Given the description of an element on the screen output the (x, y) to click on. 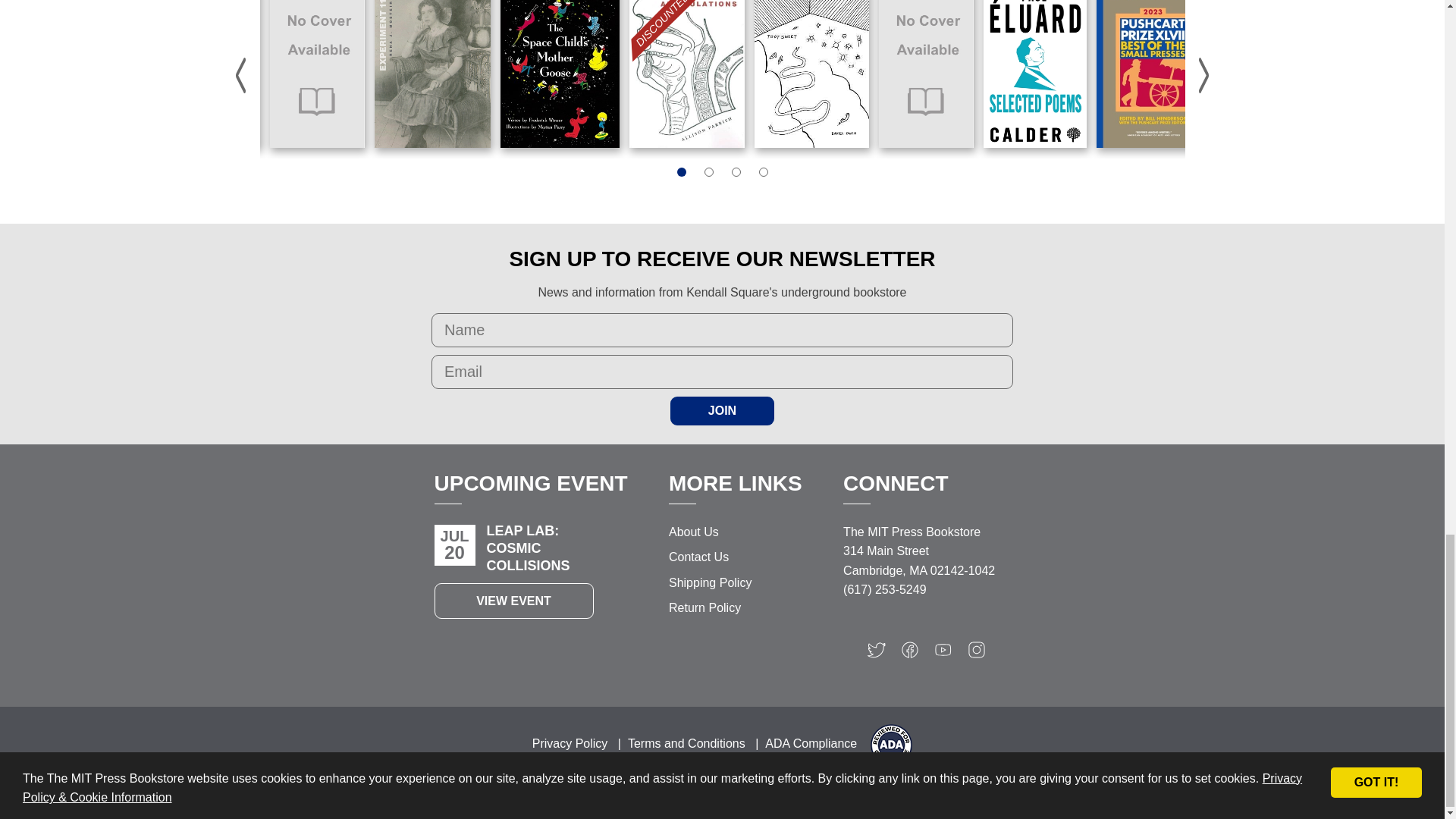
Join (721, 410)
